Given the description of an element on the screen output the (x, y) to click on. 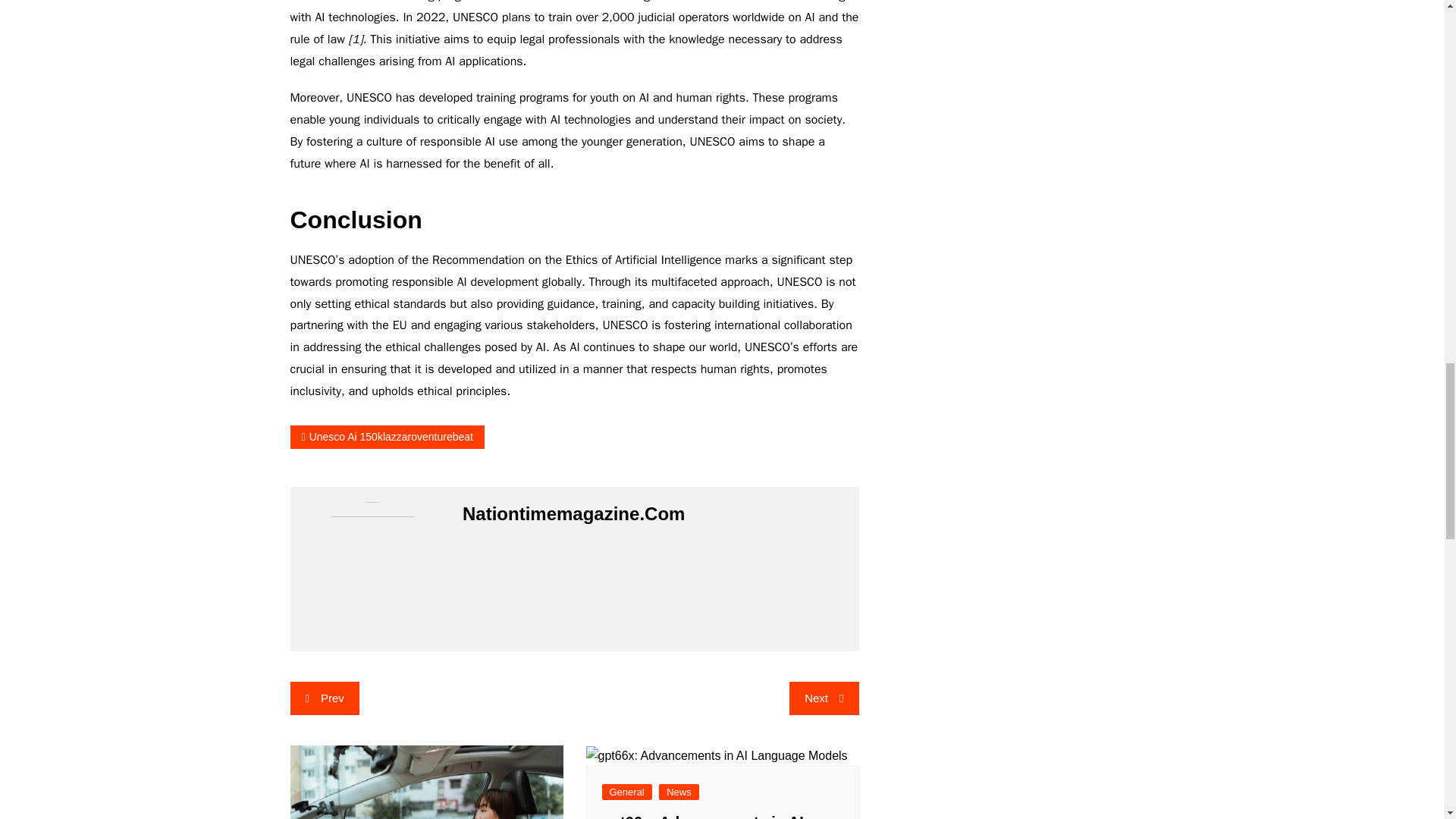
Next (824, 697)
General (627, 791)
News (678, 791)
Unesco Ai 150klazzaroventurebeat (386, 436)
gpt66x: Advancements in AI Language Models (702, 816)
Prev (323, 697)
